Given the description of an element on the screen output the (x, y) to click on. 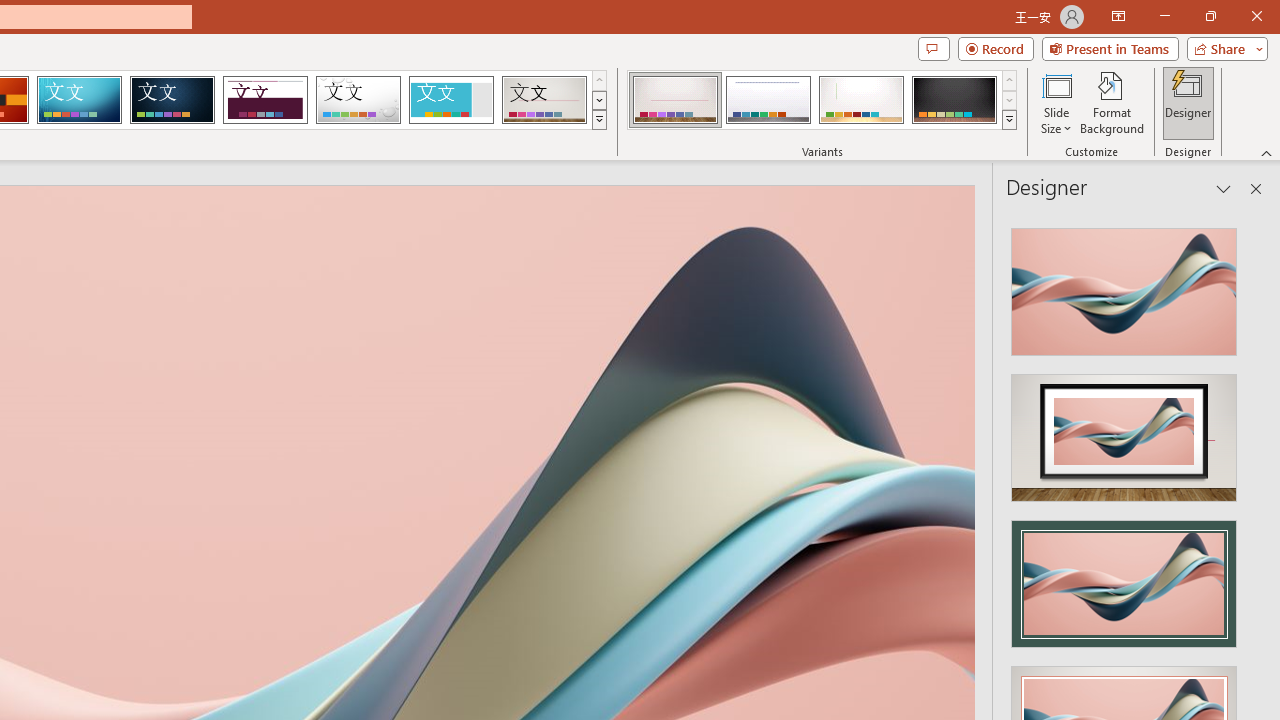
Dividend (265, 100)
Format Background (1111, 102)
Gallery Variant 1 (674, 100)
Gallery Variant 3 (861, 100)
